Given the description of an element on the screen output the (x, y) to click on. 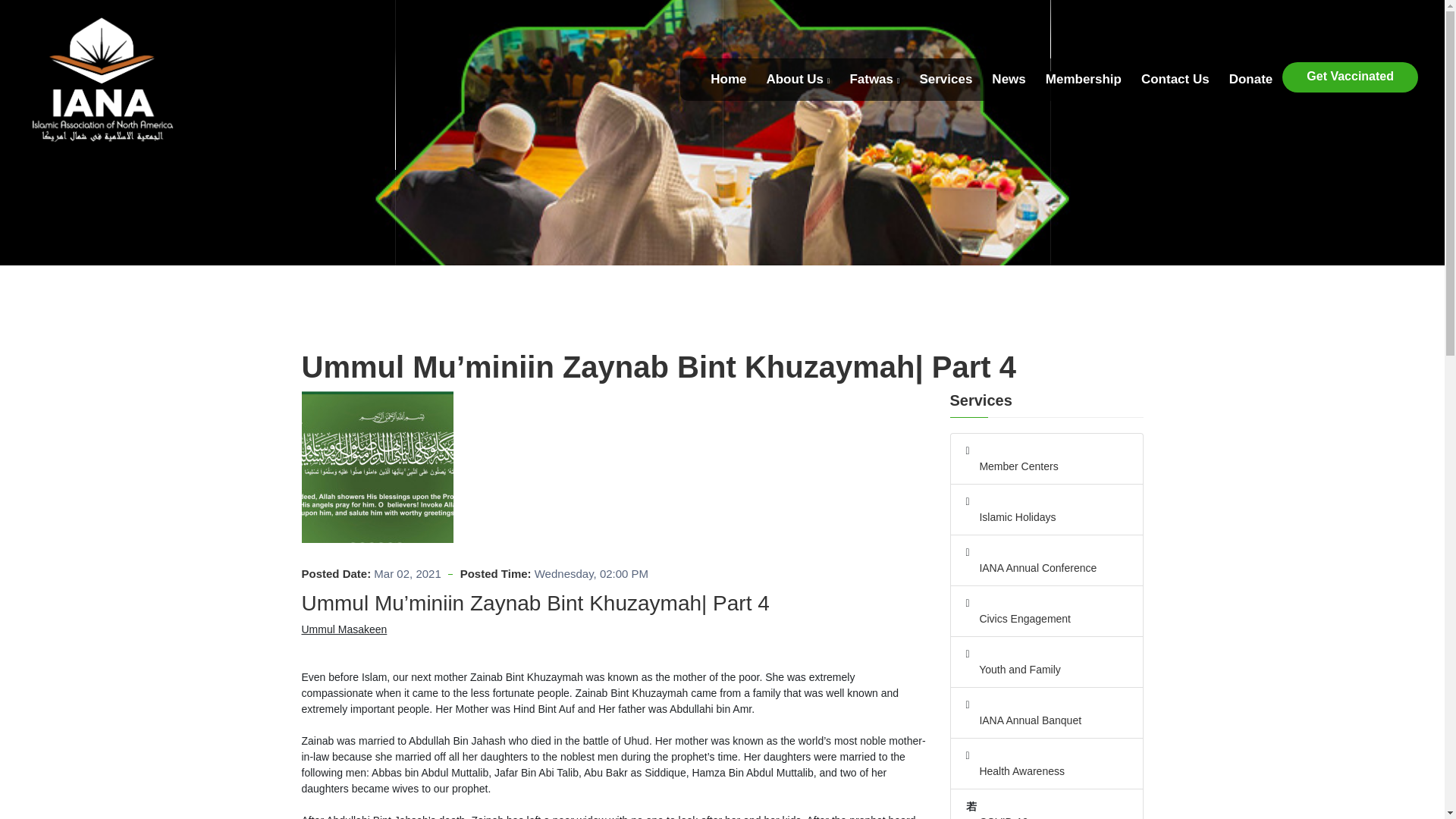
Health Awareness (1046, 771)
Civics Engagement (1046, 618)
IANA Annual Banquet (1046, 720)
Wednesday, 02:00 PM (590, 574)
Mar 02, 2021 (407, 574)
About Us (797, 79)
Fatwas (873, 79)
Get Vaccinated (1350, 77)
Services (945, 79)
Islamic Holidays (1046, 517)
Contact Us (1175, 79)
Donate (1250, 79)
COVID-19 (1046, 816)
News (1008, 79)
IANA Annual Conference (1046, 568)
